Given the description of an element on the screen output the (x, y) to click on. 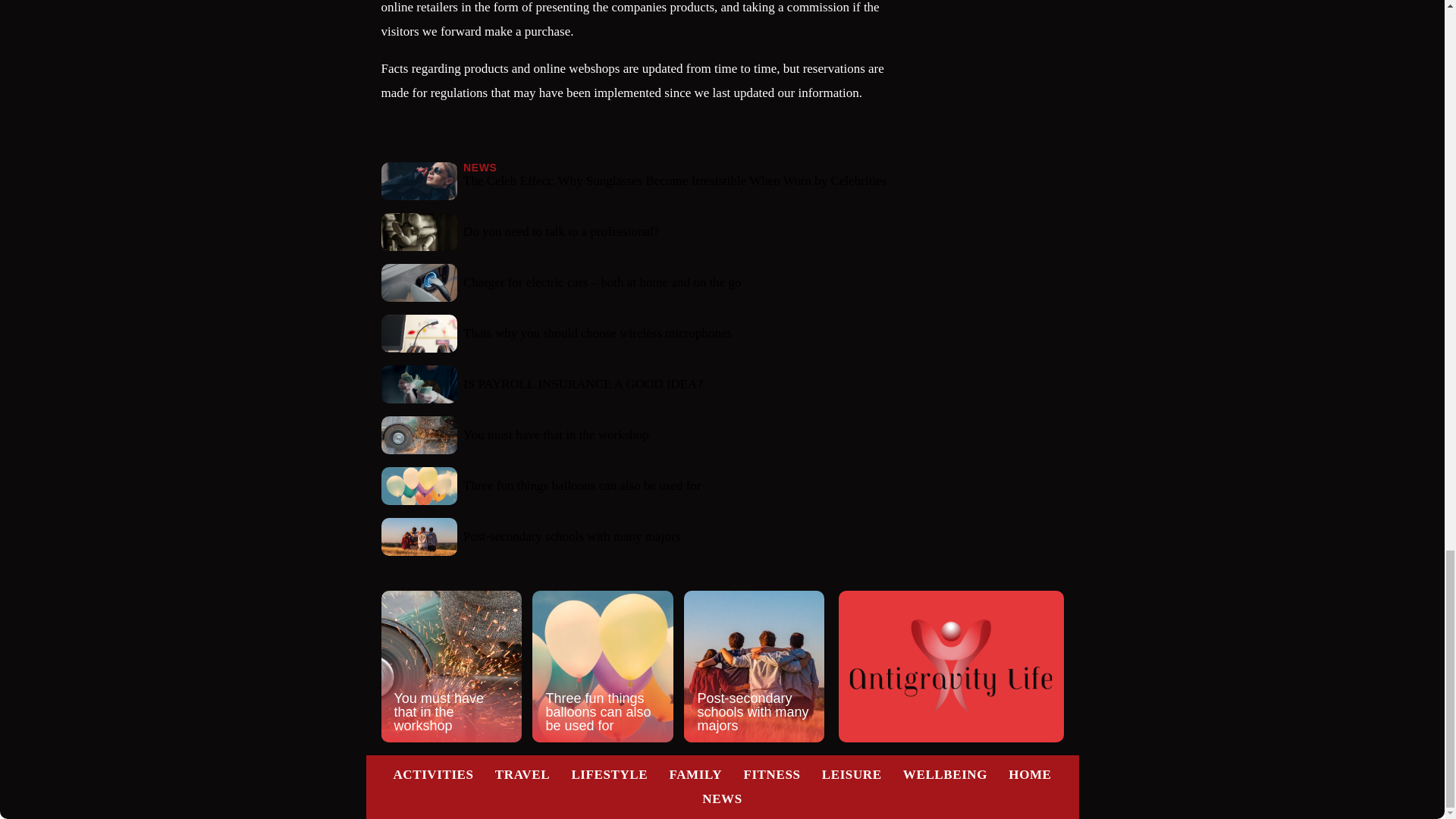
You must have that in the workshop (450, 666)
ACTIVITIES (433, 774)
Three fun things balloons can also be used for (602, 666)
Post-secondary schools with many majors (754, 666)
